Given the description of an element on the screen output the (x, y) to click on. 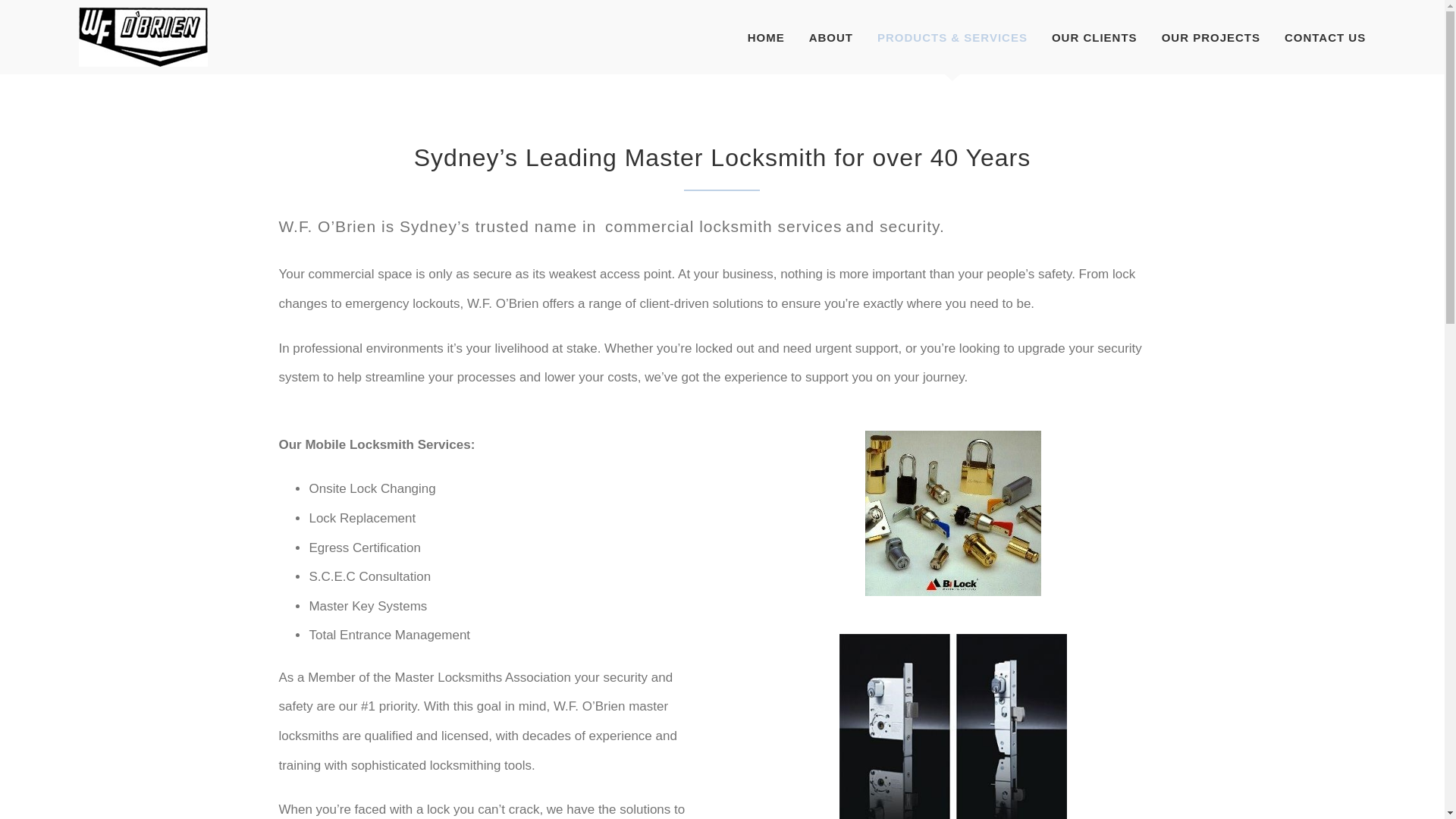
commercial-keys-static (953, 726)
HOME (766, 37)
CONTACT US (1324, 37)
OUR PROJECTS (1210, 37)
locks-static (952, 513)
ABOUT (831, 37)
OUR CLIENTS (1094, 37)
